Given the description of an element on the screen output the (x, y) to click on. 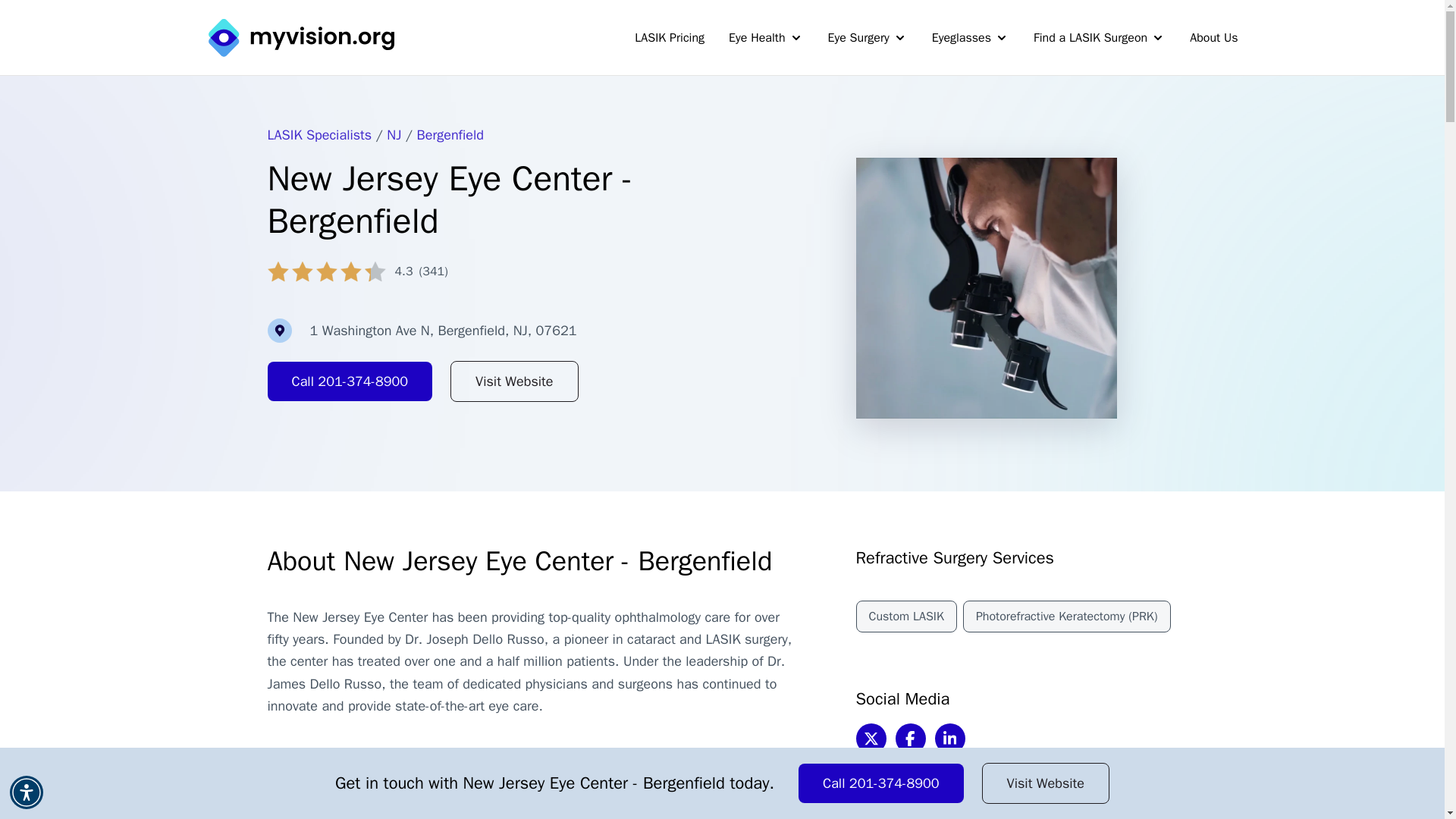
Myvision.org Home (299, 36)
Eye Surgery (867, 37)
Find a LASIK Surgeon (1099, 37)
Accessibility Menu (26, 792)
Eyeglasses (970, 37)
LASIK Pricing (669, 37)
Eye Health (766, 37)
